Given the description of an element on the screen output the (x, y) to click on. 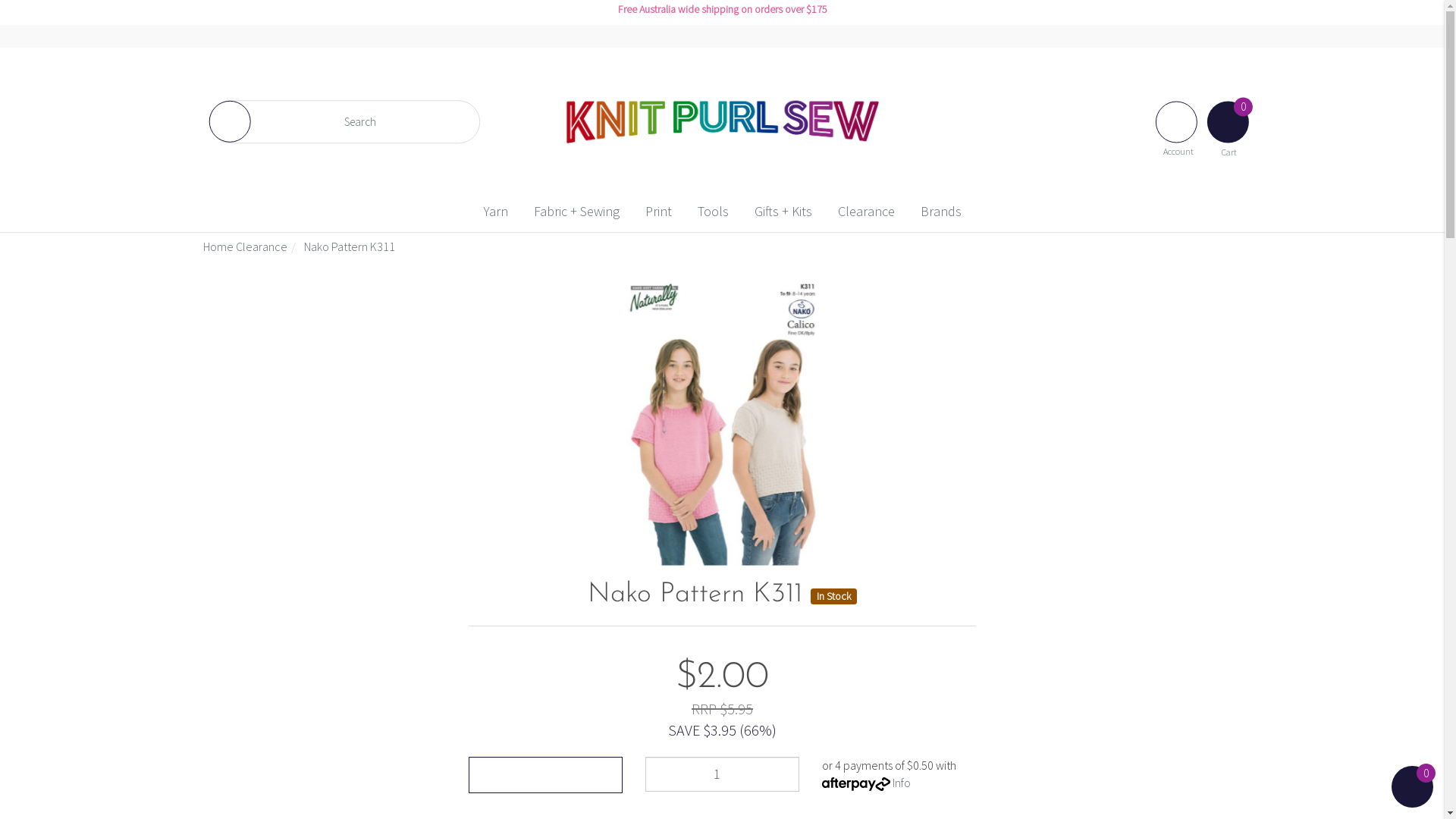
0 Element type: text (1412, 801)
Gifts + Kits Element type: text (782, 211)
Large View Element type: hover (722, 422)
Clearance Element type: text (865, 211)
Account Element type: text (1177, 117)
Info Element type: text (901, 782)
Clearance Element type: text (261, 246)
Home Element type: text (218, 246)
Print Element type: text (657, 211)
0
Cart Element type: text (1229, 117)
Account Element type: text (1176, 121)
Knit Purl Sew Element type: hover (721, 120)
Nako Pattern K311 Element type: text (349, 246)
Yarn Element type: text (495, 211)
0
Cart Element type: text (1227, 121)
Fabric + Sewing Element type: text (576, 211)
0 Element type: text (1412, 786)
Brands Element type: text (940, 211)
Tools Element type: text (712, 211)
